Given the description of an element on the screen output the (x, y) to click on. 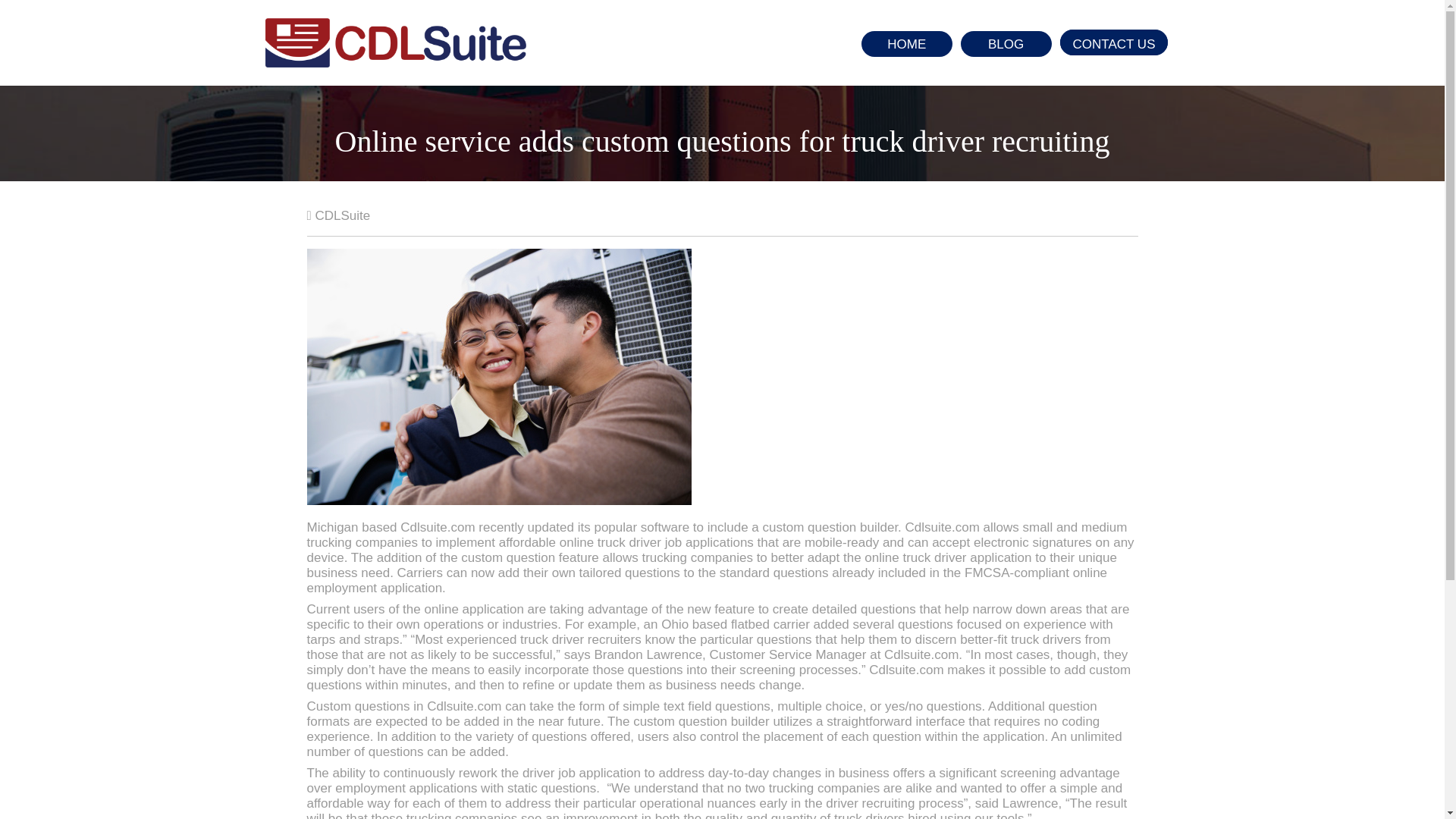
BLOG (1005, 43)
HOME (906, 43)
CONTACT US (1114, 42)
